Given the description of an element on the screen output the (x, y) to click on. 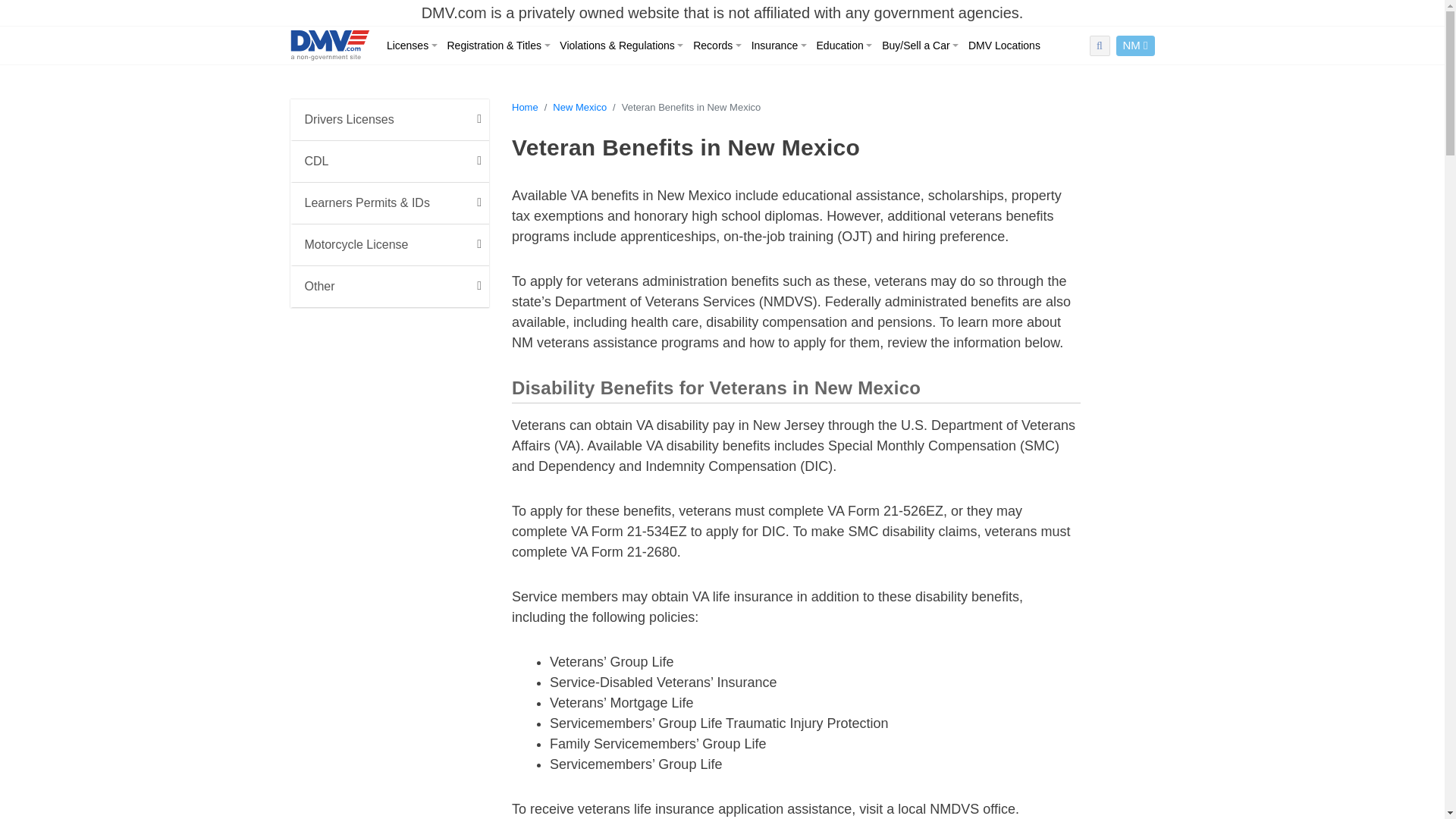
Search (1055, 75)
NM (1135, 46)
